Given the description of an element on the screen output the (x, y) to click on. 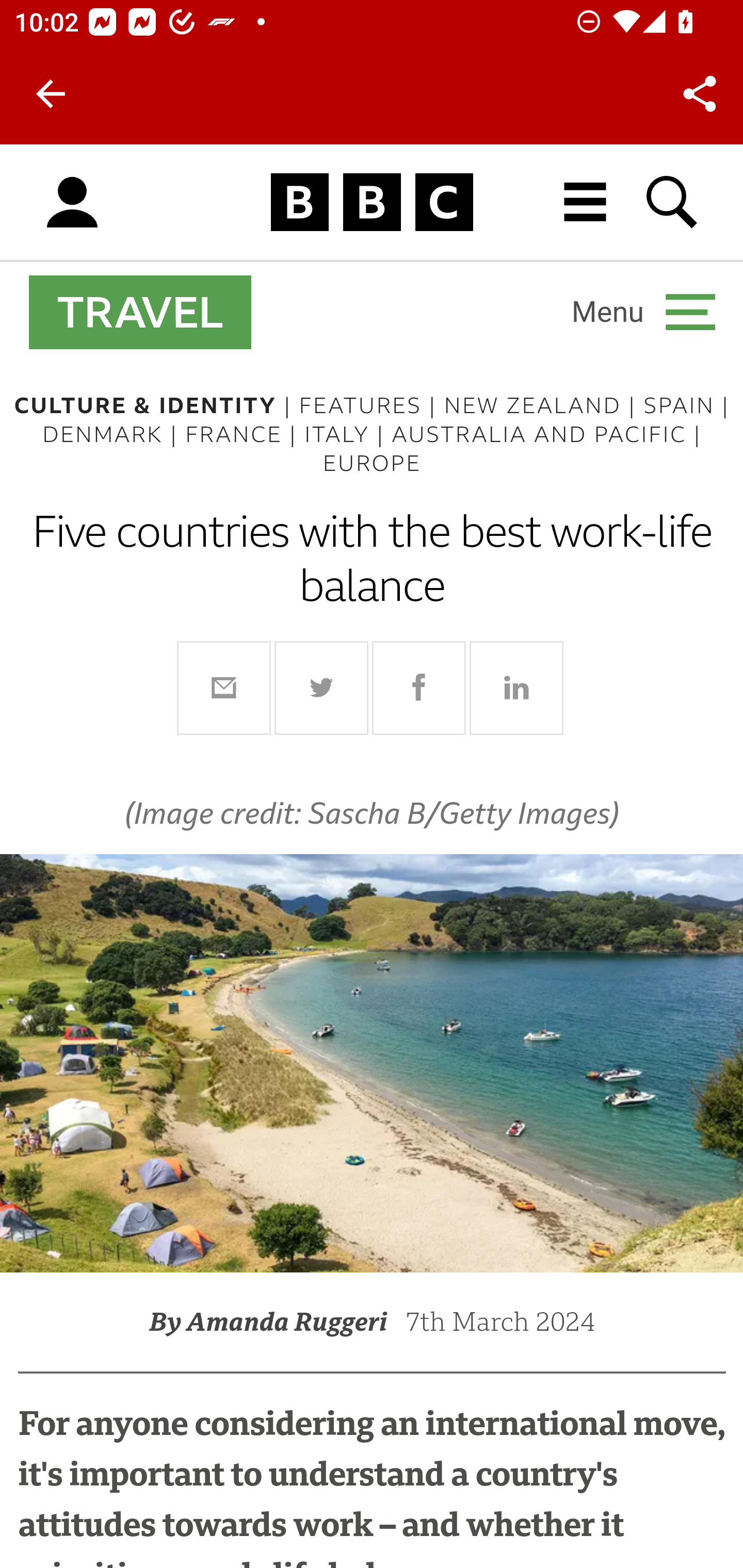
Back (50, 93)
Share (699, 93)
All BBC destinations menu (585, 202)
Search BBC (672, 202)
Sign in (71, 203)
Homepage (371, 203)
Open more navigation (643, 311)
travel (140, 311)
CULTURE & IDENTITY |  CULTURE & IDENTITY  |  (155, 405)
FEATURES |  FEATURES  |  (371, 405)
NEW ZEALAND |  NEW ZEALAND  |  (543, 405)
SPAIN |  SPAIN  |  (686, 405)
DENMARK |  DENMARK  |  (113, 434)
FRANCE |  FRANCE  |  (244, 434)
ITALY |  ITALY  |  (348, 434)
AUSTRALIA AND PACIFIC |  AUSTRALIA AND PACIFIC  |  (546, 434)
EUROPE (371, 464)
 Share using Email  Share using Email (223, 687)
 Share on Twitter  Share on Twitter (322, 687)
 Share on Facebook  Share on Facebook (418, 687)
 Share on Linkedin  Share on Linkedin (516, 687)
By Amanda Ruggeri (276, 1320)
